Given the description of an element on the screen output the (x, y) to click on. 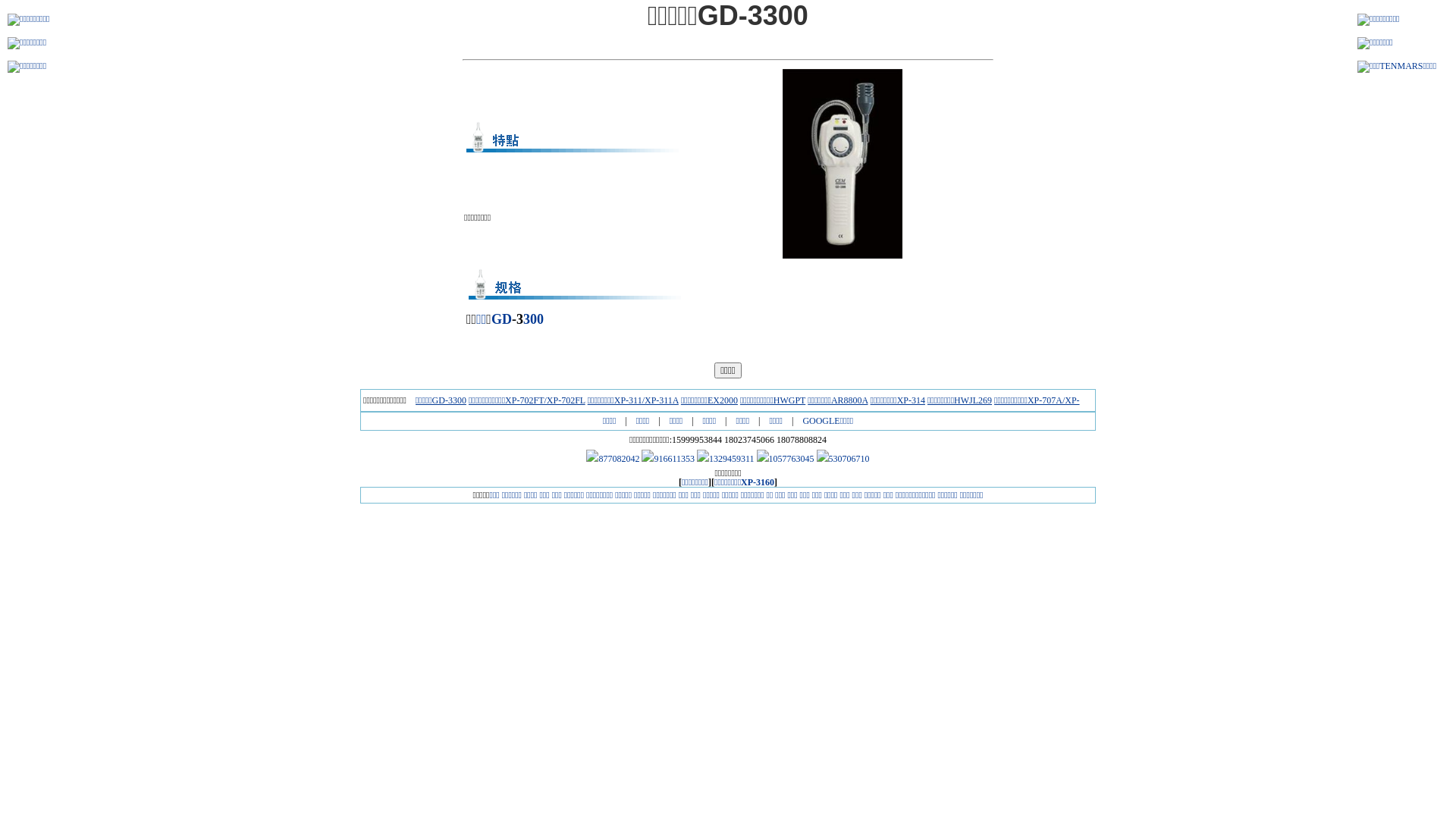
300 Element type: text (533, 318)
GD Element type: text (501, 318)
